Given the description of an element on the screen output the (x, y) to click on. 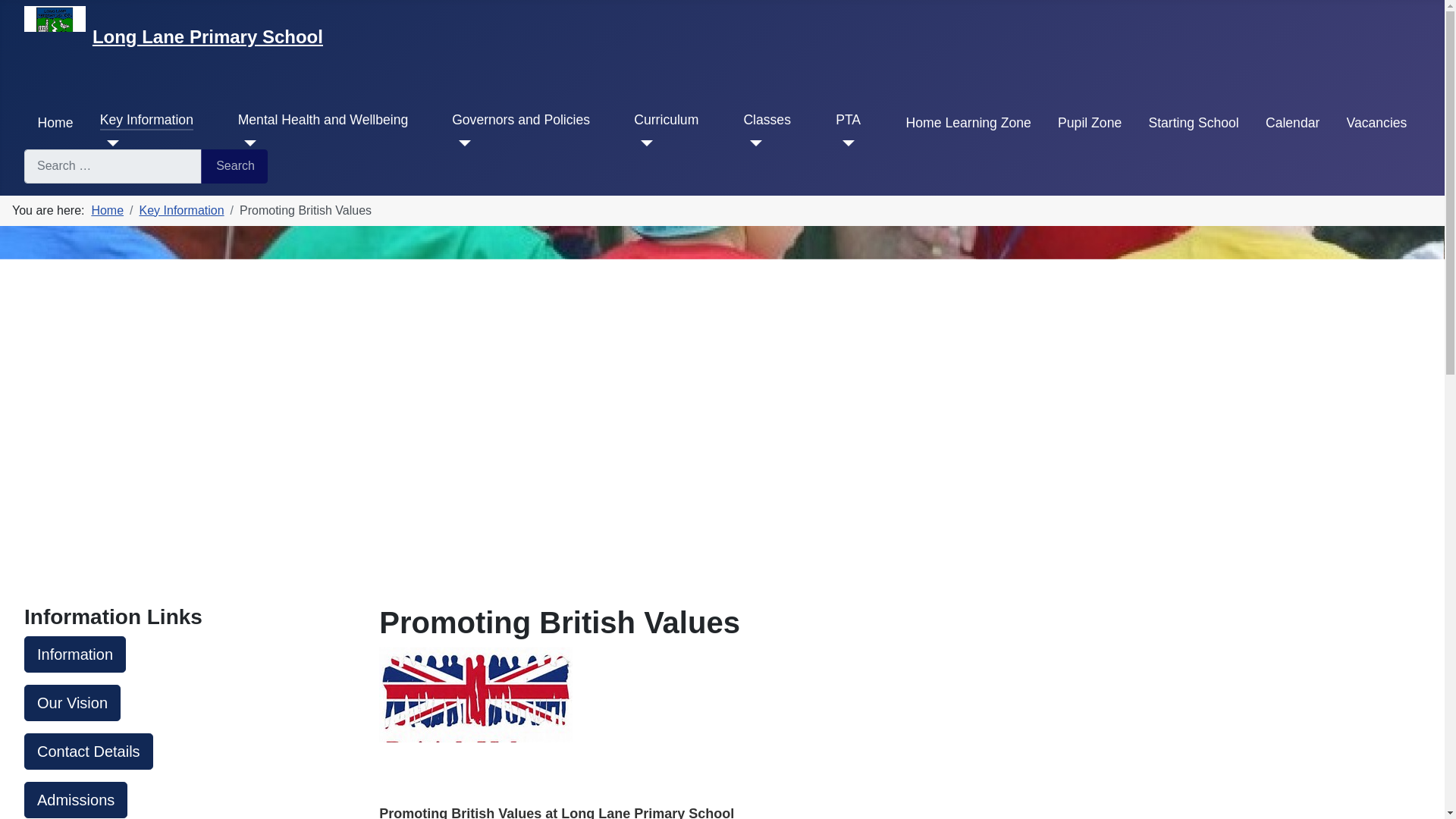
Curriculum (665, 119)
Governors and Policies (520, 119)
Mental Health and Wellbeing (323, 119)
Key Information (146, 119)
Long Lane Primary School (208, 36)
Home (55, 122)
